Given the description of an element on the screen output the (x, y) to click on. 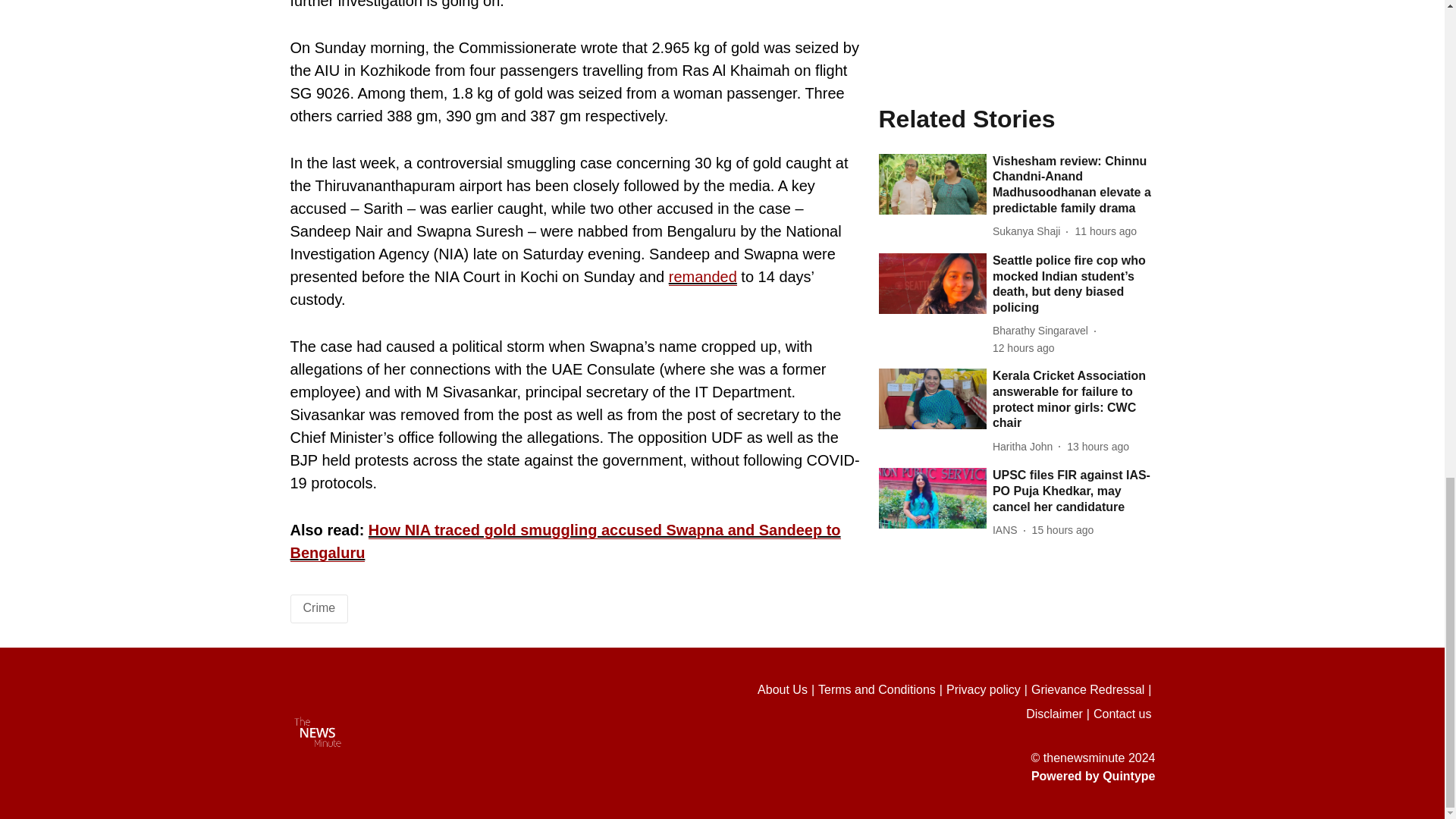
Crime (319, 607)
remanded (702, 276)
